Given the description of an element on the screen output the (x, y) to click on. 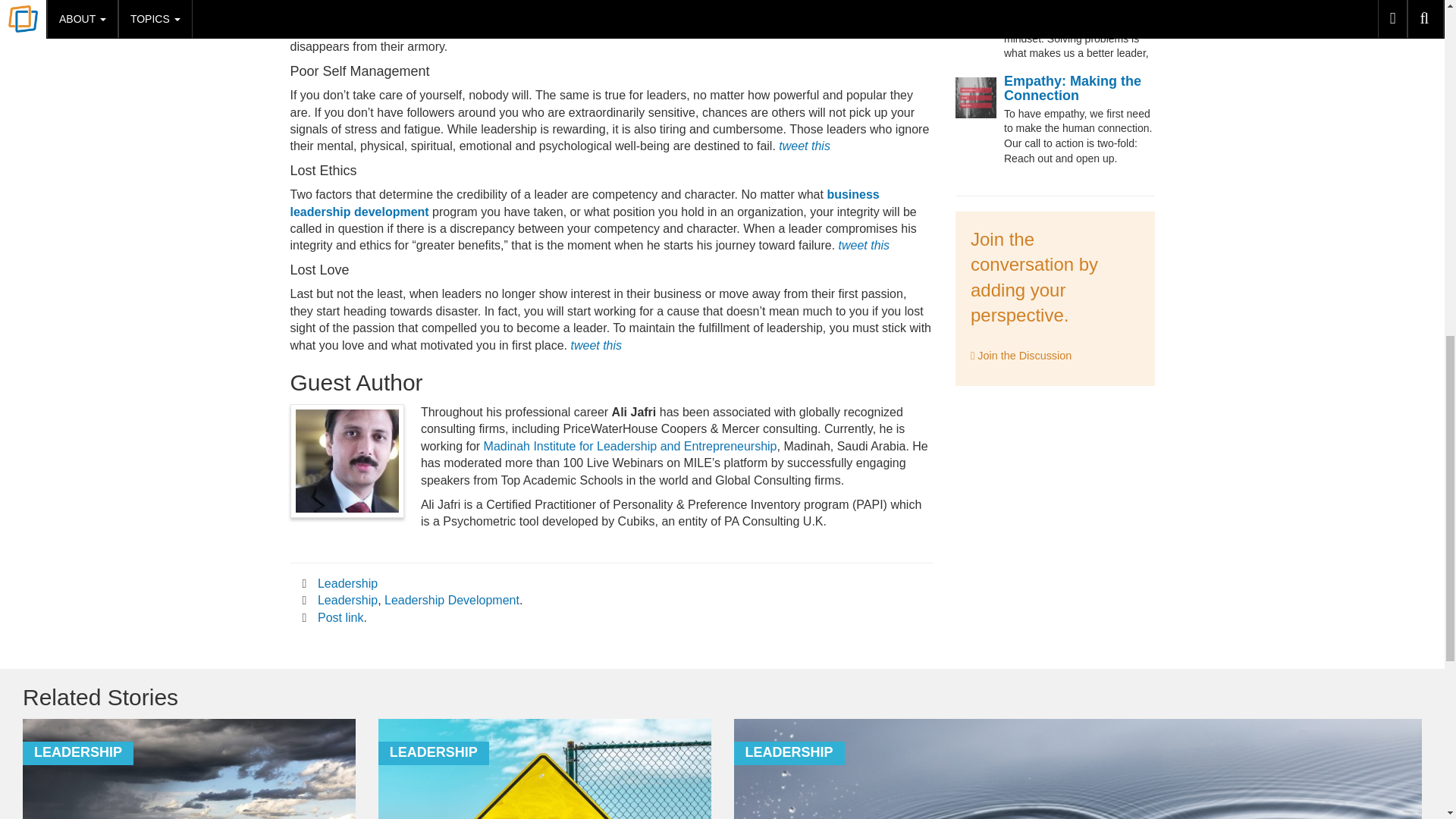
tweet this (863, 245)
Leadership (347, 583)
Leadership (347, 599)
tweet this (863, 245)
Leadership Development (451, 599)
Madinah Institute for Leadership and Entrepreneurship (630, 445)
Tweet this (803, 145)
tweet this (803, 145)
business leadership development (584, 202)
